Given the description of an element on the screen output the (x, y) to click on. 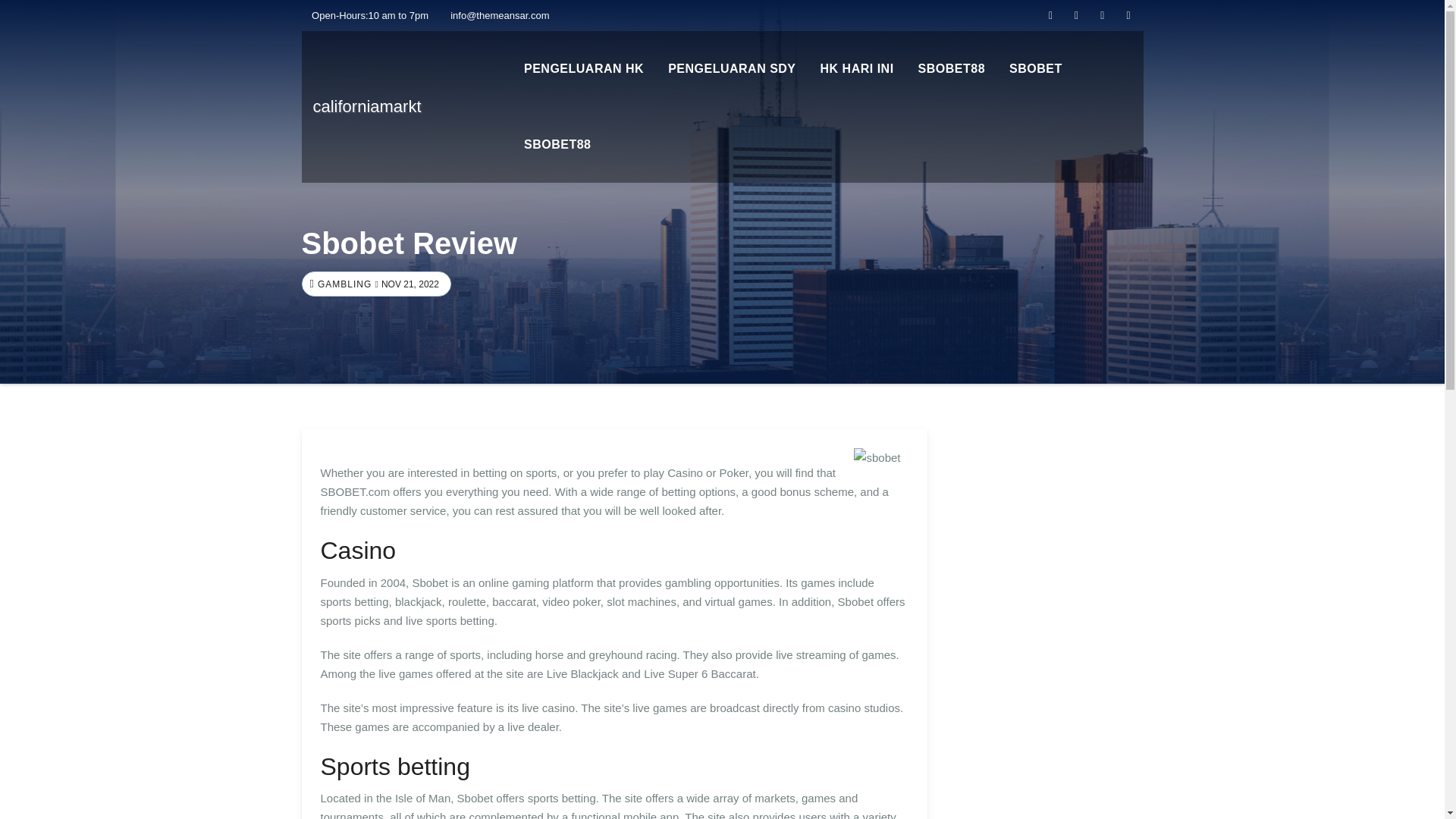
GAMBLING (342, 284)
SBOBET88 (951, 69)
SBOBET88 (557, 144)
SBOBET (1035, 69)
SBOBET88 (557, 144)
HK HARI INI (856, 69)
SBOBET88 (951, 69)
Open-Hours:10 am to 7pm (365, 15)
HK Hari Ini (856, 69)
SBOBET (1035, 69)
californiamarkt (366, 106)
Pengeluaran HK (584, 69)
PENGELUARAN HK (584, 69)
Pengeluaran SDY (732, 69)
PENGELUARAN SDY (732, 69)
